Given the description of an element on the screen output the (x, y) to click on. 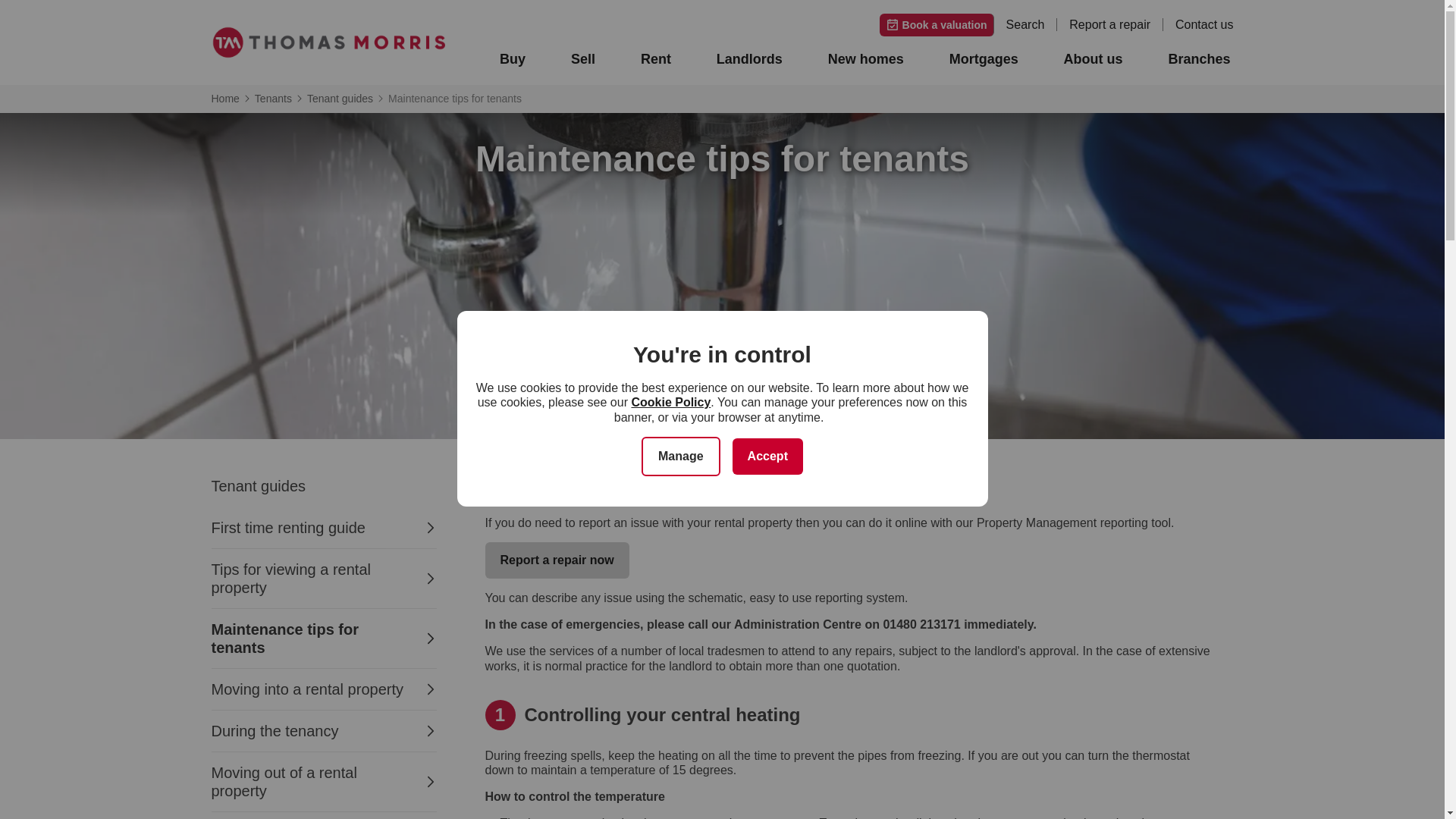
Report a repair (1115, 24)
Search (1032, 24)
Search (1032, 24)
Contact us (1203, 24)
Book a valuation (936, 24)
Thomas Morris (327, 42)
Report a repair (1115, 24)
Contact us (1203, 24)
Book a valuation (936, 24)
